Given the description of an element on the screen output the (x, y) to click on. 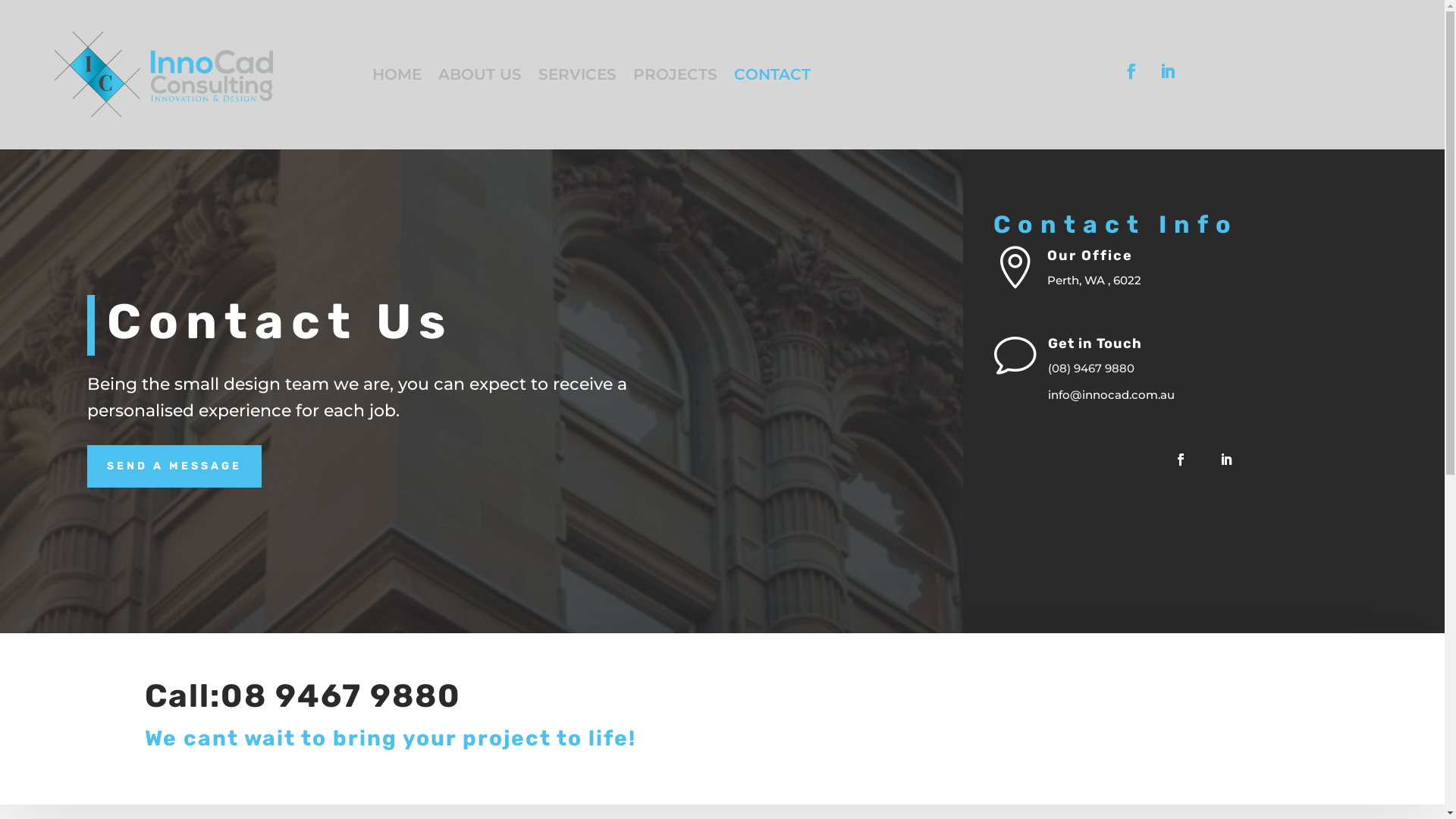
PROJECTS Element type: text (675, 77)
Follow on Facebook Element type: hover (1131, 71)
SERVICES Element type: text (577, 77)
Follow on LinkedIn Element type: hover (1225, 459)
ABOUT US Element type: text (479, 77)
Follow on LinkedIn Element type: hover (1167, 71)
HOME Element type: text (396, 77)
CONTACT Element type: text (772, 77)
SEND A MESSAGE Element type: text (174, 466)
(08) 9467 9880 Element type: text (1091, 367)
Artboard 1Email Sig Element type: hover (164, 74)
Follow on Facebook Element type: hover (1180, 459)
